Given the description of an element on the screen output the (x, y) to click on. 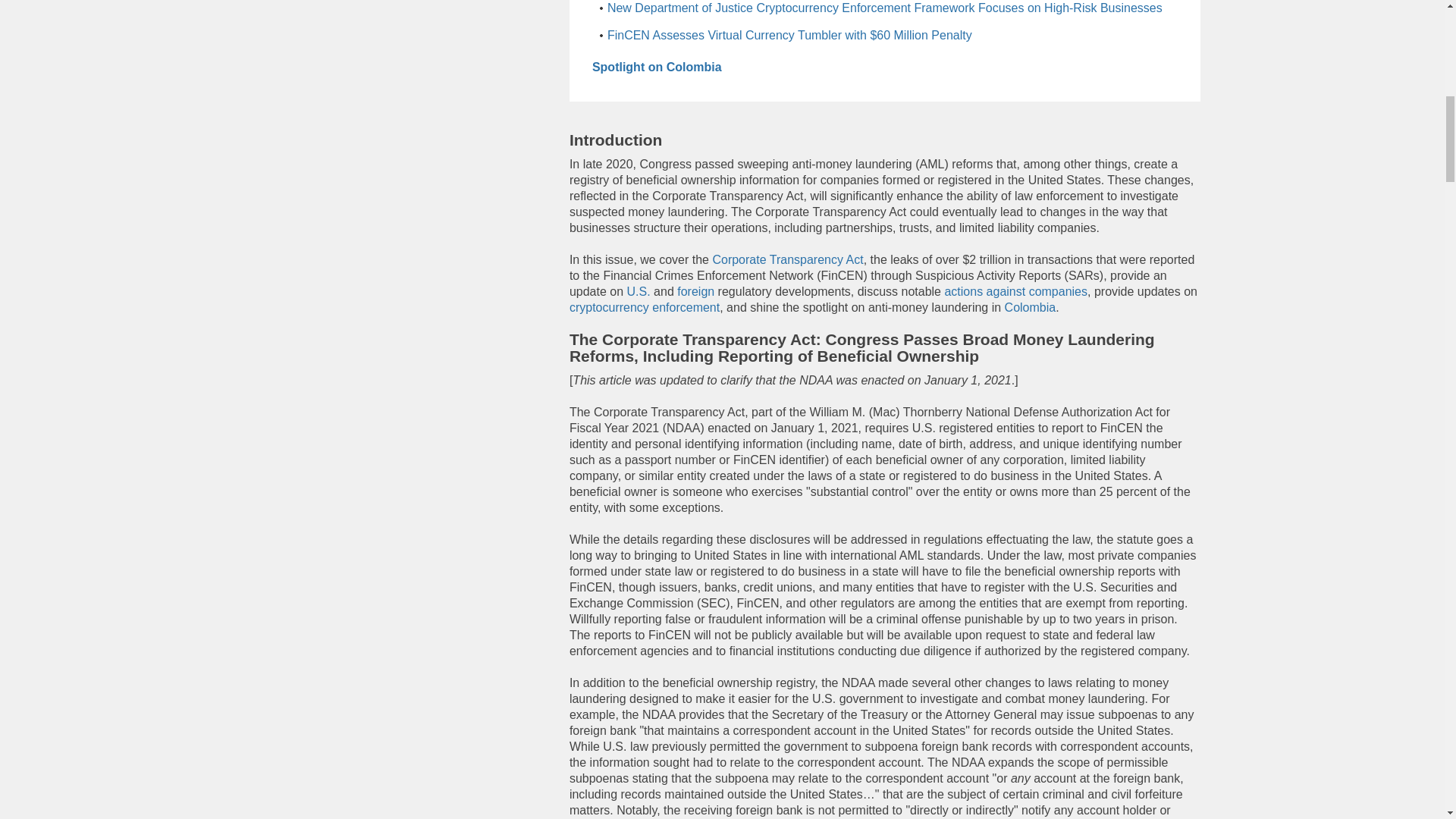
actions against companies (1015, 291)
Spotlight on Colombia (657, 66)
U.S. (638, 291)
Colombia (1030, 307)
cryptocurrency enforcement (644, 307)
foreign (695, 291)
Corporate Transparency Act (787, 259)
